Given the description of an element on the screen output the (x, y) to click on. 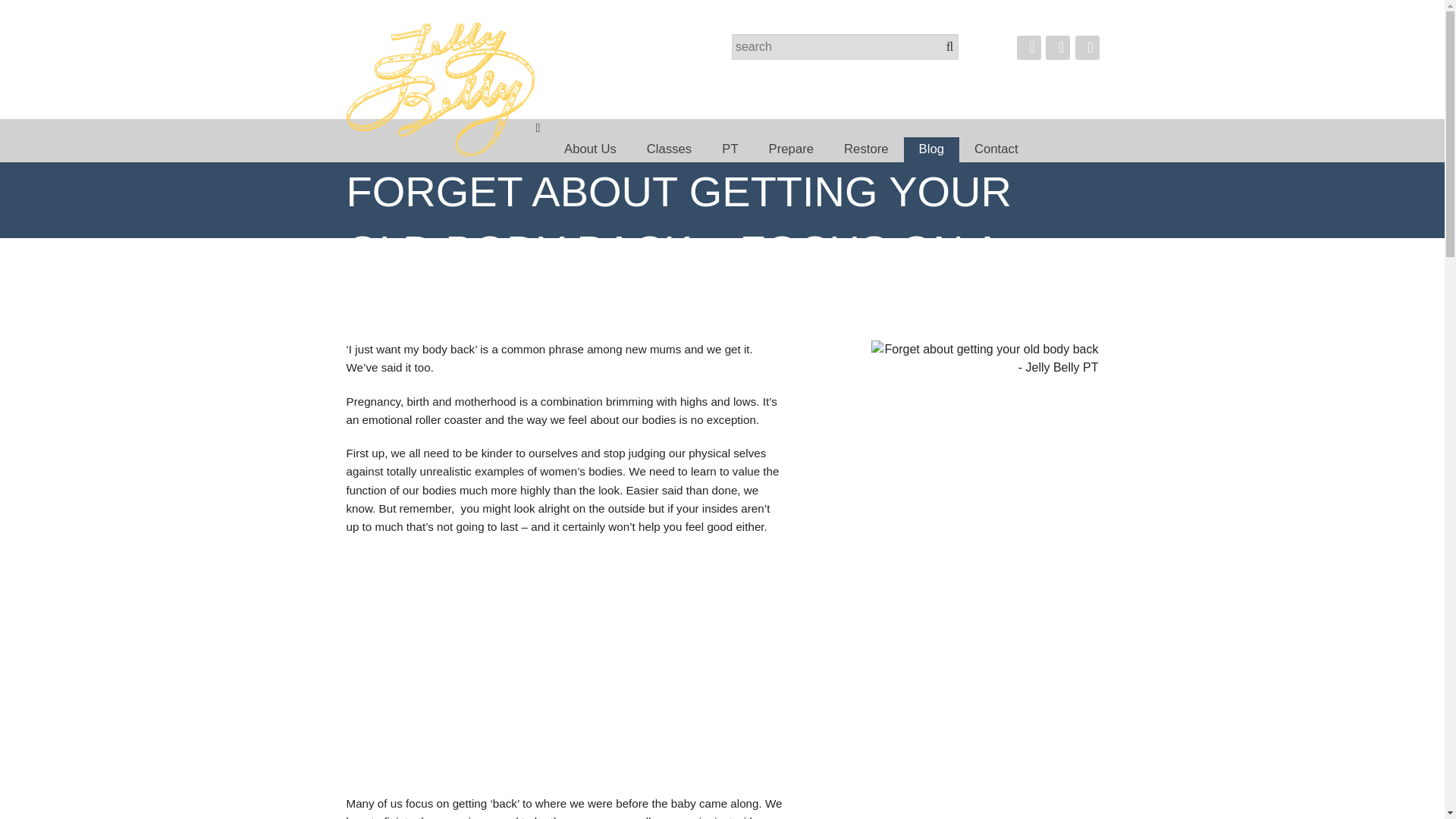
Search Button (949, 44)
Prepare (791, 149)
Contact (996, 149)
About Us (589, 149)
PT (729, 149)
Blog (931, 149)
Classes (668, 149)
Restore (866, 149)
